Given the description of an element on the screen output the (x, y) to click on. 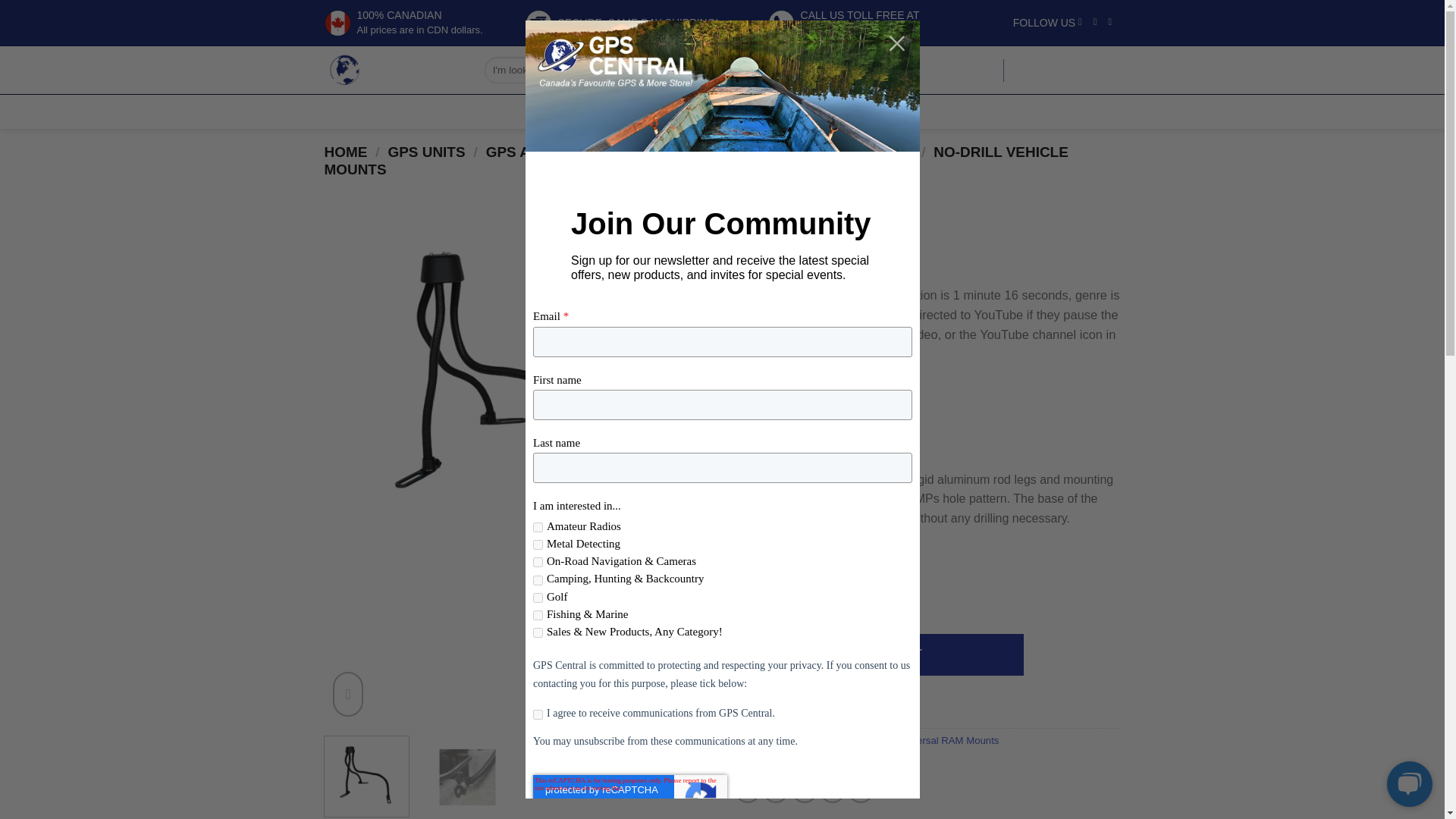
Cart (1069, 69)
Login (973, 69)
AMATEUR RADIOS (436, 110)
LOGIN (844, 21)
GPS UNITS (973, 69)
GPS Central - Shop In-Store in Calgary or Online Anywhere (589, 110)
